Given the description of an element on the screen output the (x, y) to click on. 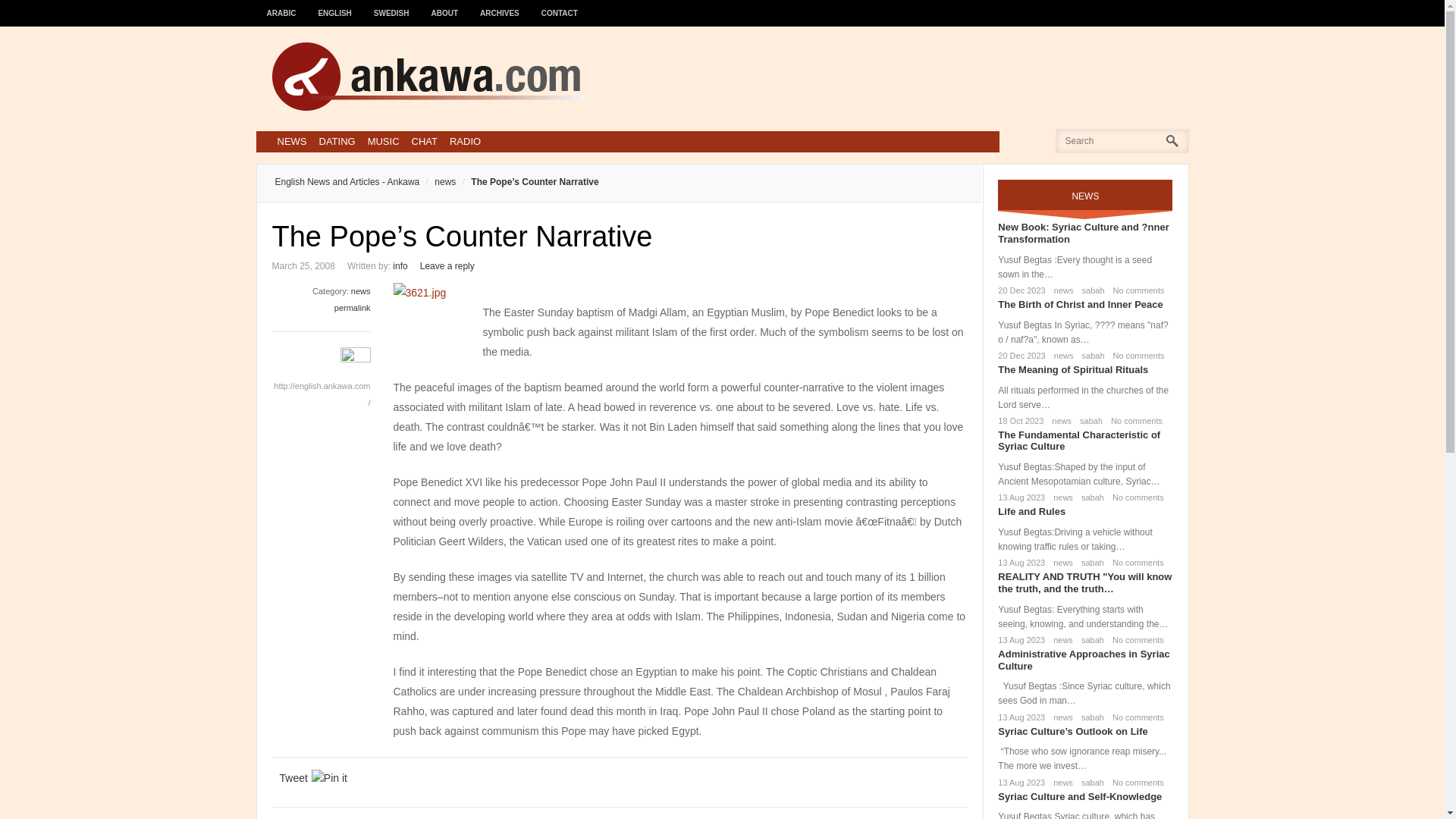
Tweet (293, 777)
No comments (1134, 497)
ARABIC (281, 5)
sabah (1090, 289)
sabah (1088, 420)
ABOUT (445, 5)
The Birth of Christ and Inner Peace (1079, 304)
The Fundamental Characteristic of Syriac Culture (1078, 440)
Life and Rules (1031, 511)
Life and Rules (1031, 511)
RADIO (465, 141)
ARCHIVES (499, 5)
MUSIC (383, 141)
CHAT (425, 141)
